Given the description of an element on the screen output the (x, y) to click on. 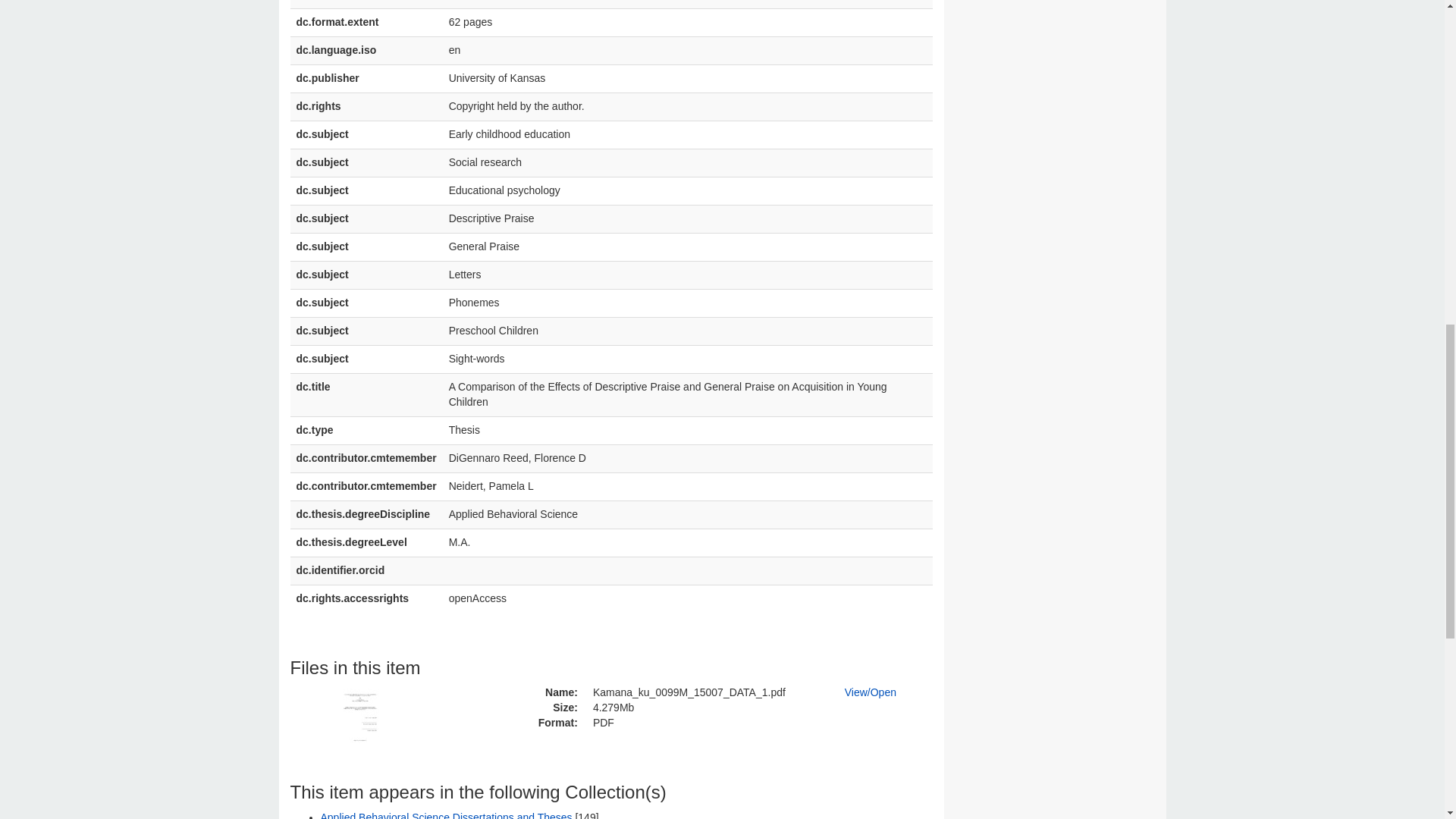
Applied Behavioral Science Dissertations and Theses (446, 815)
